Given the description of an element on the screen output the (x, y) to click on. 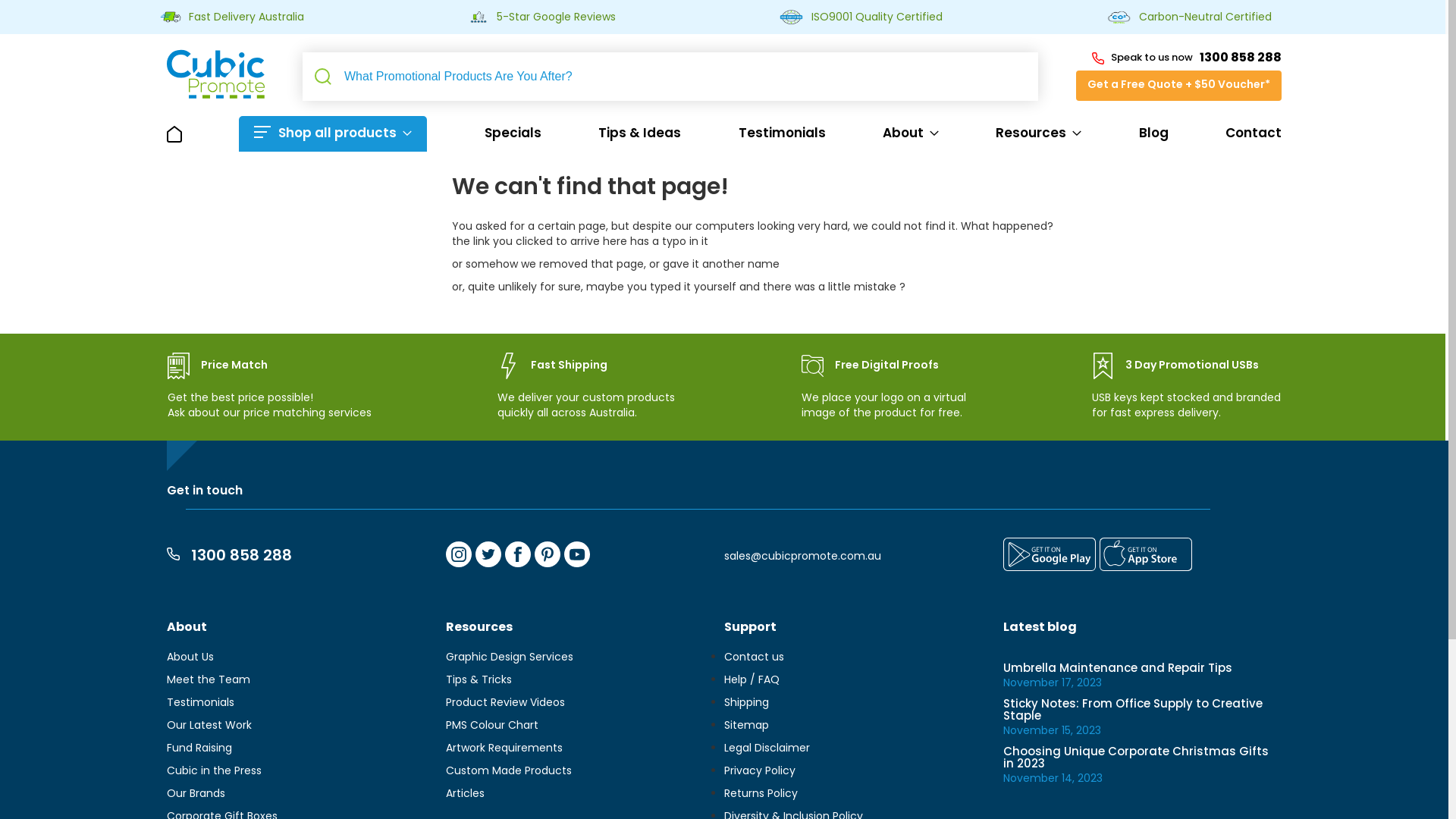
Specials Element type: text (512, 133)
Custom Made Products Element type: text (508, 771)
Fund Raising Element type: text (199, 748)
Articles Element type: text (464, 794)
Help / FAQ Element type: text (751, 680)
Cubic Promote Element type: hover (215, 73)
Testimonials Element type: text (200, 703)
Tips & Tricks Element type: text (478, 680)
Sticky Notes: From Office Supply to Creative Staple Element type: text (1131, 711)
Contact Element type: text (1253, 133)
Search Element type: hover (322, 76)
Tips & Ideas Element type: text (639, 133)
Cubic in the Press Element type: text (213, 771)
Testimonials Element type: text (781, 133)
3 Day Promotional USBs Element type: text (1175, 365)
Artwork Requirements Element type: text (503, 748)
Meet the Team Element type: text (208, 680)
Our Latest Work Element type: text (208, 725)
Graphic Design Services Element type: text (509, 657)
Get a Free Quote + $50 Voucher* Element type: text (1178, 85)
About Us Element type: text (189, 657)
Shipping Element type: text (746, 703)
Fast Shipping Element type: text (552, 365)
sales@cubicpromote.com.au Element type: text (802, 556)
Blog Element type: text (1153, 133)
About Element type: text (910, 133)
Product Review Videos Element type: text (504, 703)
Contact us Element type: text (754, 657)
1300 858 288 Element type: text (228, 556)
Free Digital Proofs Element type: text (869, 365)
Resources Element type: text (1038, 133)
Price Match Element type: text (217, 365)
PMS Colour Chart Element type: text (491, 725)
Umbrella Maintenance and Repair Tips Element type: text (1116, 668)
Sitemap Element type: text (746, 725)
Privacy Policy Element type: text (759, 771)
Choosing Unique Corporate Christmas Gifts in 2023 Element type: text (1134, 759)
Our Brands Element type: text (195, 794)
Returns Policy Element type: text (760, 794)
Shop all products Element type: text (332, 133)
Legal Disclaimer Element type: text (766, 748)
